Given the description of an element on the screen output the (x, y) to click on. 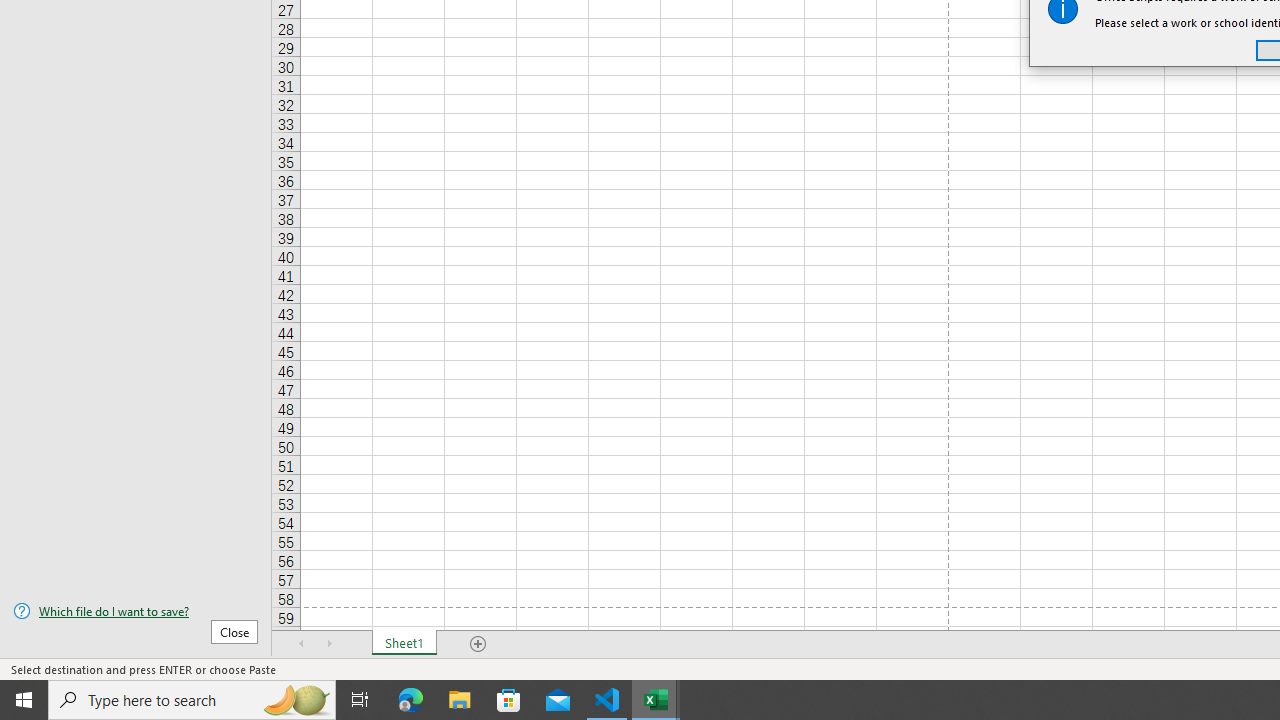
Which file do I want to save? (136, 611)
